Given the description of an element on the screen output the (x, y) to click on. 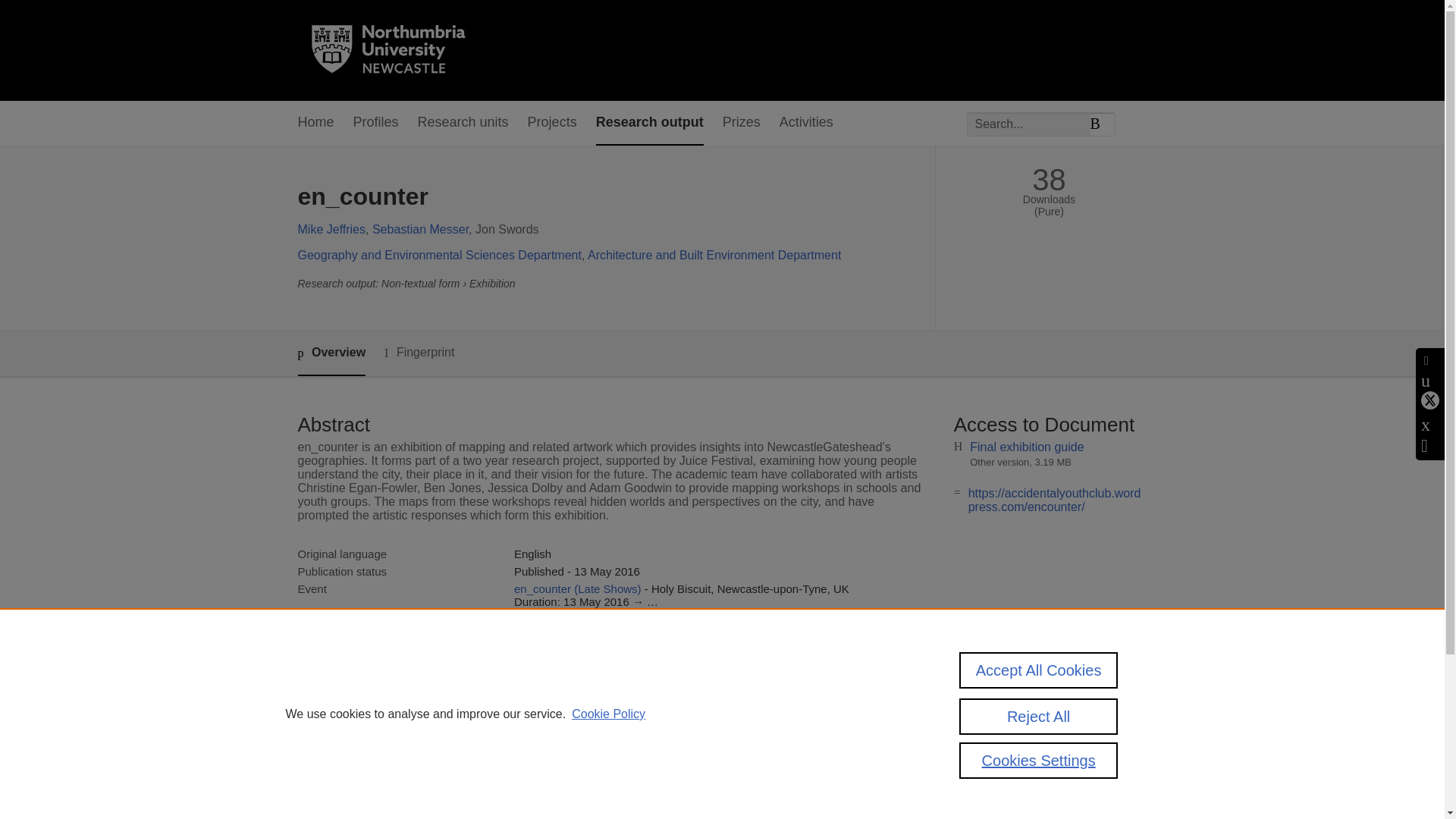
Activities (805, 122)
Research output (649, 122)
Final exhibition guide (1026, 446)
Reject All (1038, 716)
Cookie Policy (608, 713)
Overview (331, 353)
Research units (462, 122)
Fingerprint (419, 352)
Northumbria University Research Portal Home (398, 50)
Architecture and Built Environment Department (714, 254)
Mike Jeffries (331, 228)
Projects (551, 122)
Profiles (375, 122)
Sebastian Messer (420, 228)
